Given the description of an element on the screen output the (x, y) to click on. 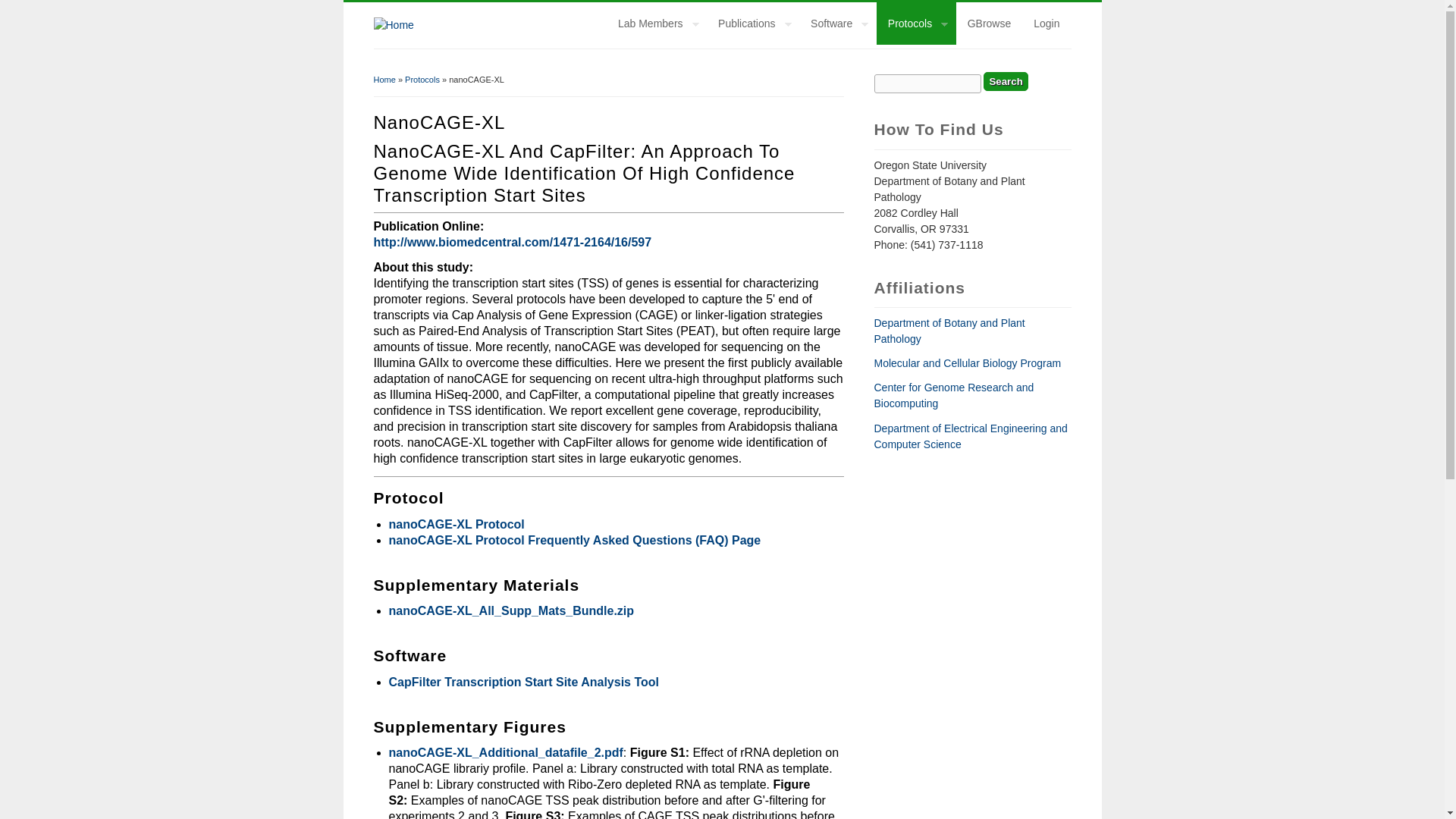
Home (383, 79)
Protocols (421, 79)
Molecular and Cellular Biology Program (967, 363)
Department of Botany and Plant Pathology (949, 330)
Scholarly Publications (752, 23)
CapFilter Transcription Start Site Analysis Tool (523, 681)
Login (1046, 23)
Search (1005, 81)
Home (392, 24)
Enter the terms you wish to search for. (926, 83)
Search (1005, 81)
nanoCAGE-XL Protocol (456, 523)
GBrowse (989, 23)
Center for Genome Research and Biocomputing (953, 395)
Department of Electrical Engineering and Computer Science (970, 436)
